Given the description of an element on the screen output the (x, y) to click on. 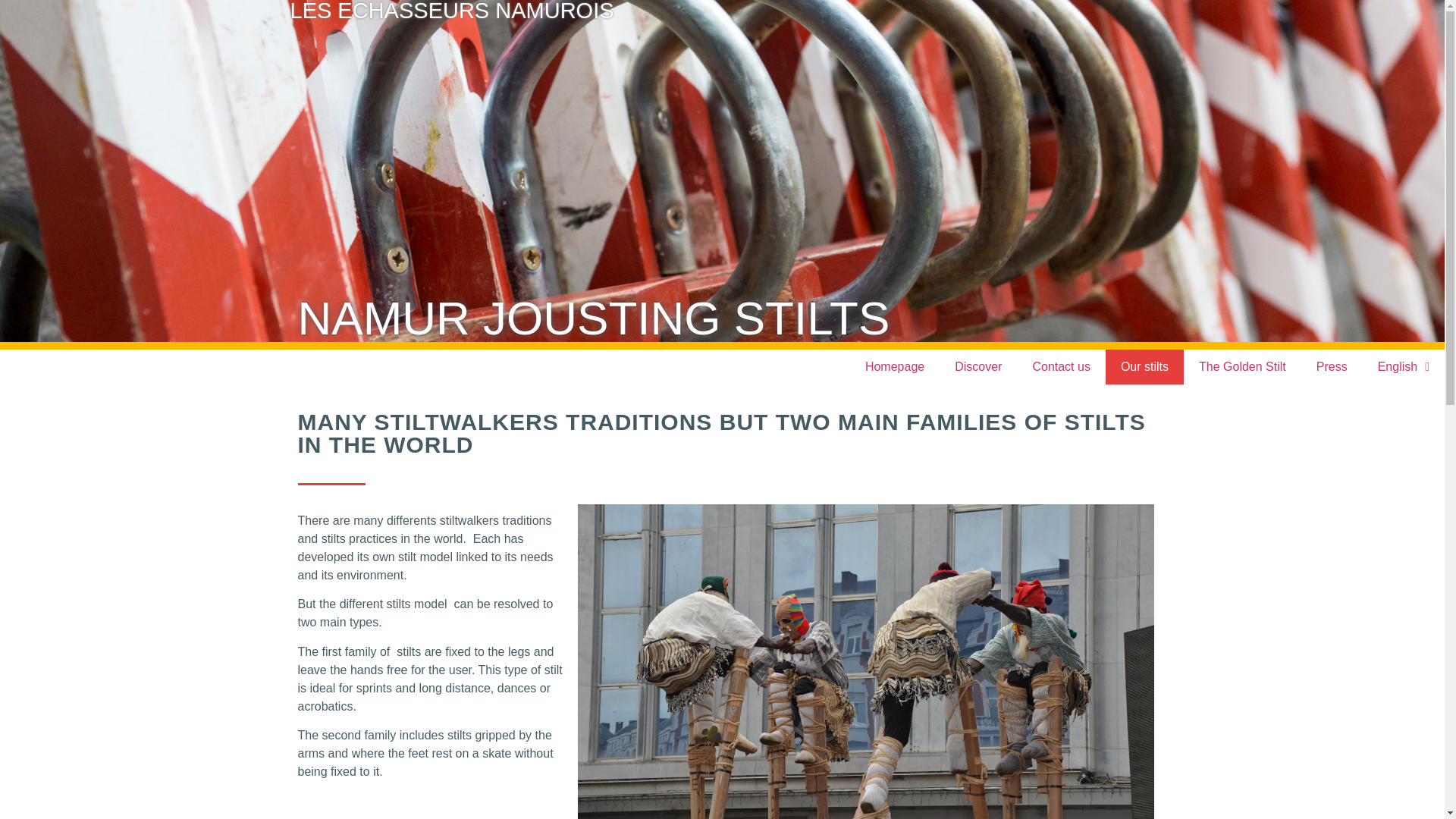
The Golden Stilt (1242, 366)
LES ECHASSEURS NAMUROIS (450, 11)
Contact us (1060, 366)
Discover (977, 366)
Press (1331, 366)
Our stilts (1144, 366)
Homepage (894, 366)
